Given the description of an element on the screen output the (x, y) to click on. 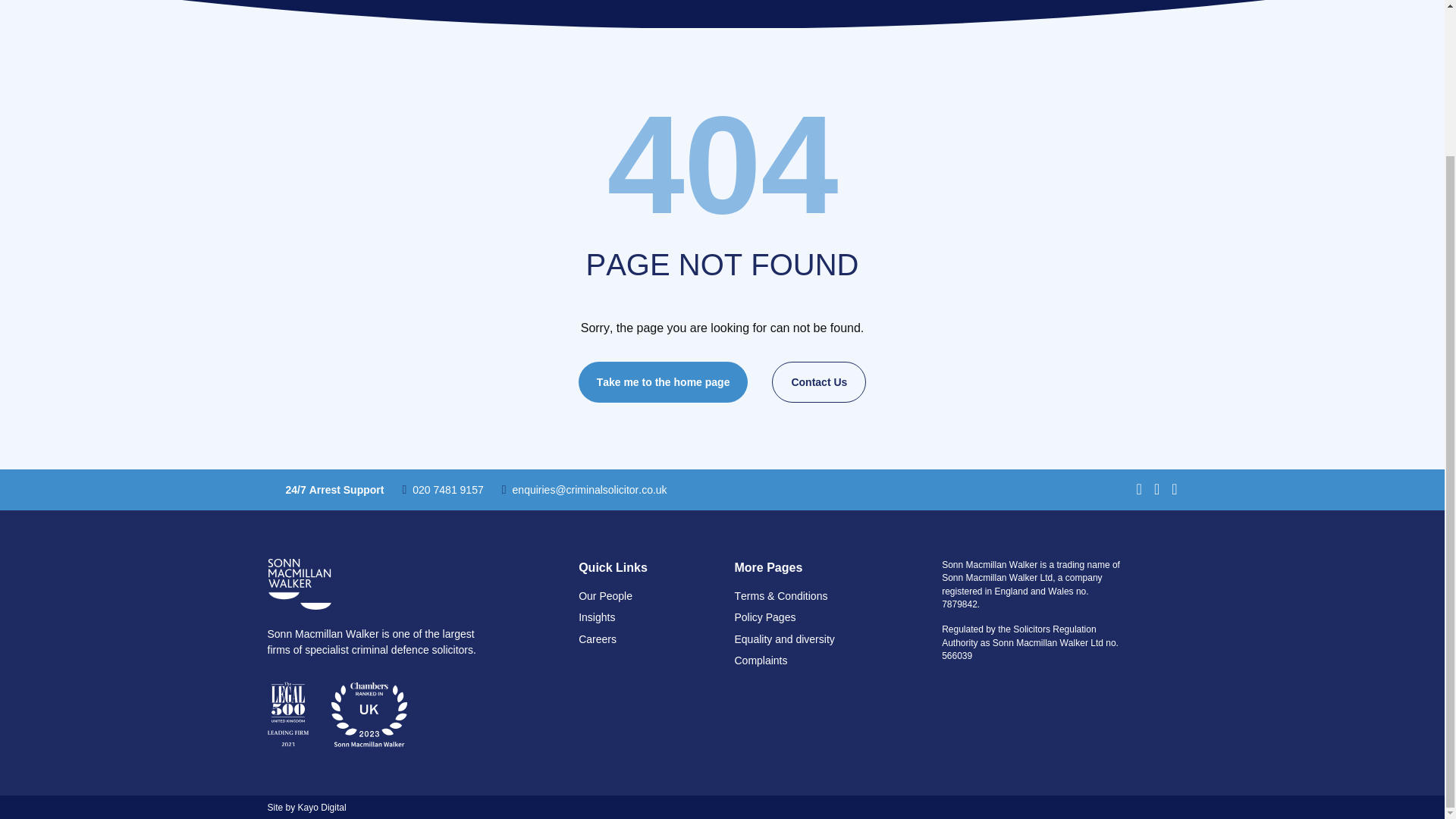
Take me to the home page (663, 381)
020 7481 9157 (442, 489)
Contact Us (818, 381)
